Given the description of an element on the screen output the (x, y) to click on. 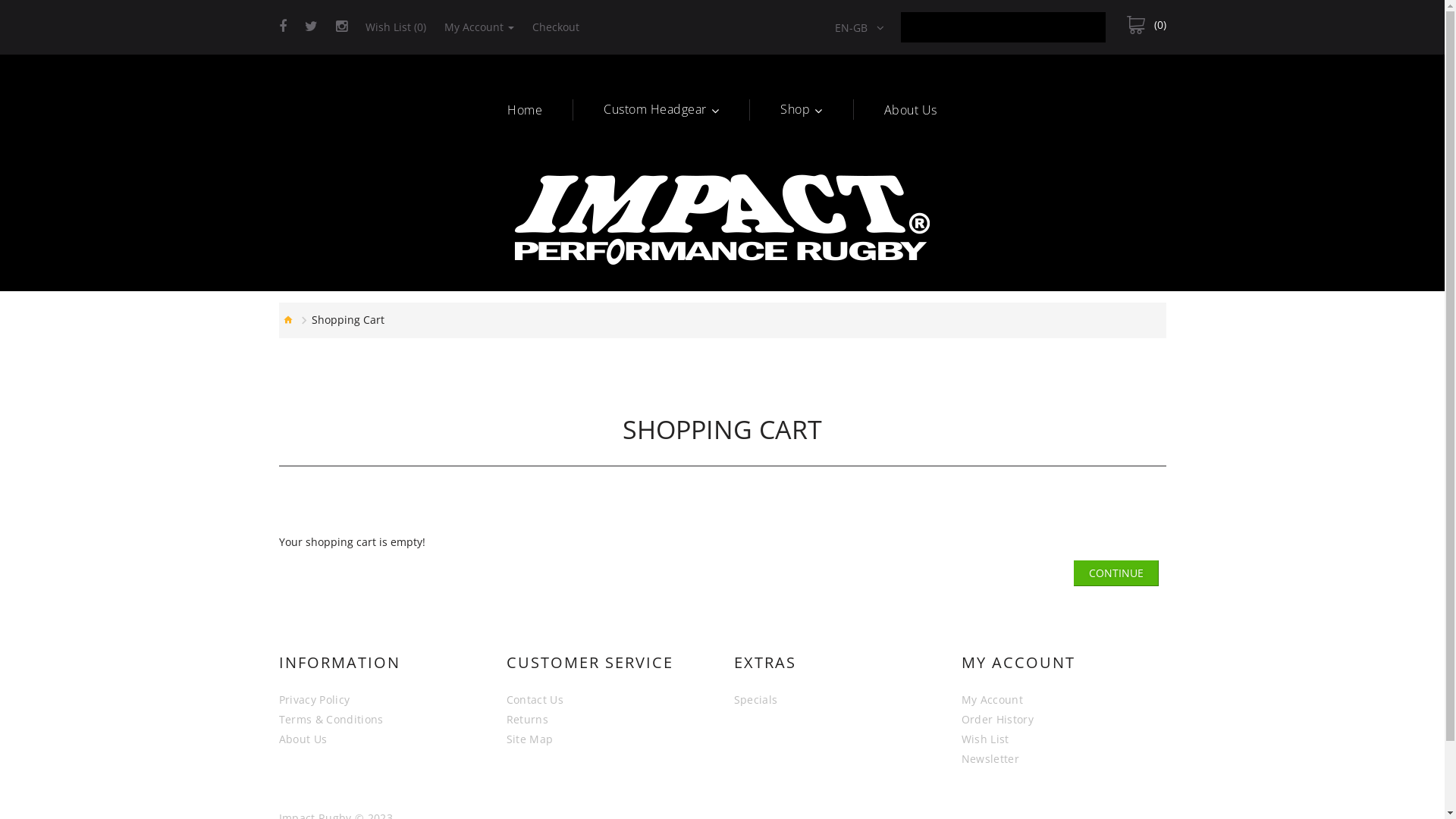
Instagram Element type: hover (340, 26)
Impact Rugby Element type: hover (721, 219)
Facebook Element type: hover (282, 26)
Checkout Element type: text (555, 26)
Privacy Policy Element type: text (314, 699)
Newsletter Element type: text (990, 758)
Custom Headgear Element type: text (660, 109)
About Us Element type: text (910, 109)
My Account Element type: text (992, 699)
0 Element type: text (1146, 24)
Contact Us Element type: text (535, 699)
Returns Element type: text (527, 719)
Site Map Element type: text (529, 738)
CONTINUE Element type: text (1115, 573)
Wish List Element type: text (985, 738)
Twitter Element type: hover (310, 26)
Shop Element type: text (801, 109)
Order History Element type: text (997, 719)
Specials Element type: text (756, 699)
Terms & Conditions Element type: text (331, 719)
Wish List (0) Element type: text (395, 26)
About Us Element type: text (303, 738)
My Account Element type: text (479, 26)
Home Element type: text (524, 109)
